Given the description of an element on the screen output the (x, y) to click on. 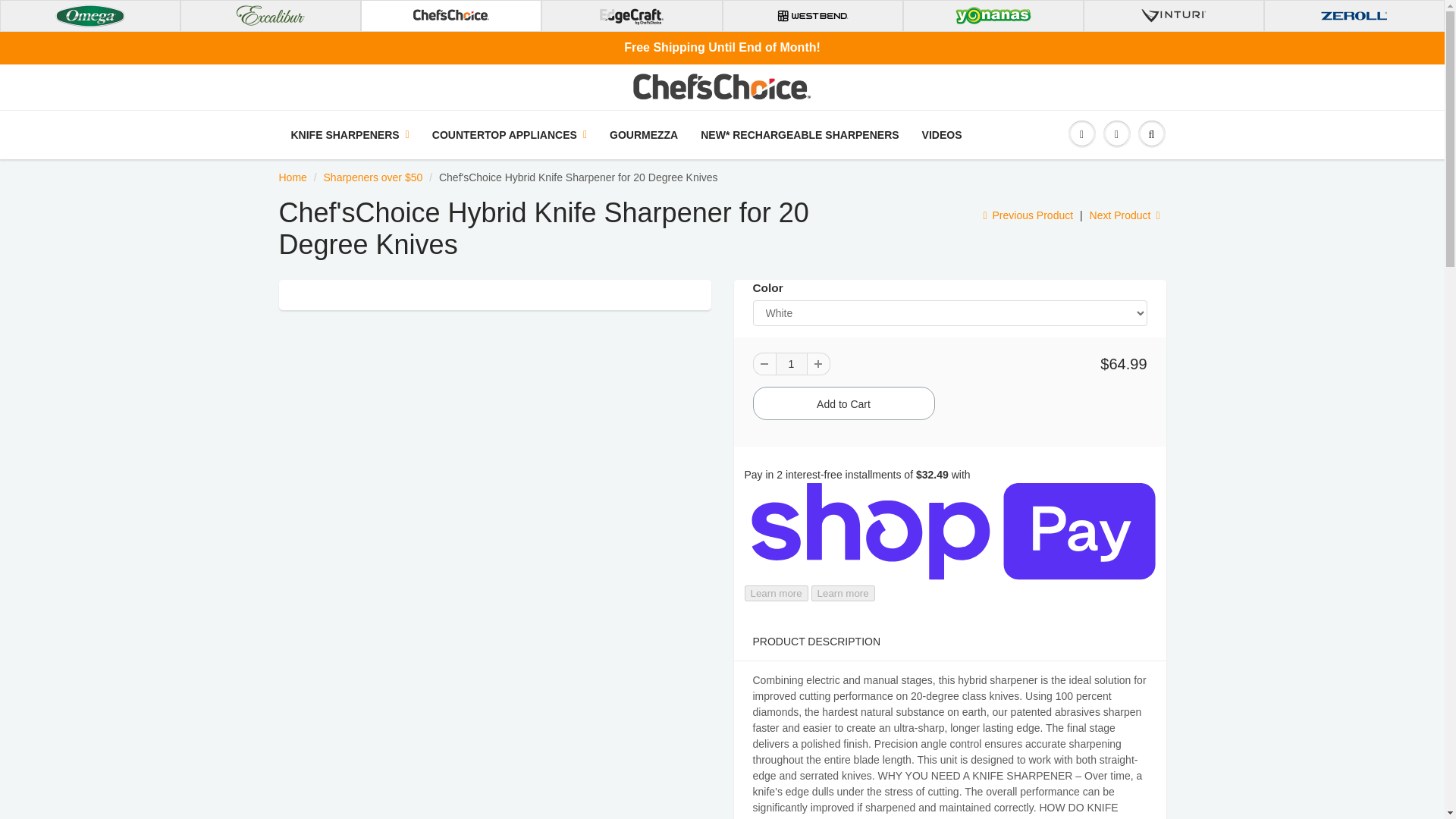
1 (790, 363)
Free Shipping Until End of Month! (722, 47)
Home (293, 177)
KNIFE SHARPENERS (349, 134)
Add to Cart (843, 403)
